Given the description of an element on the screen output the (x, y) to click on. 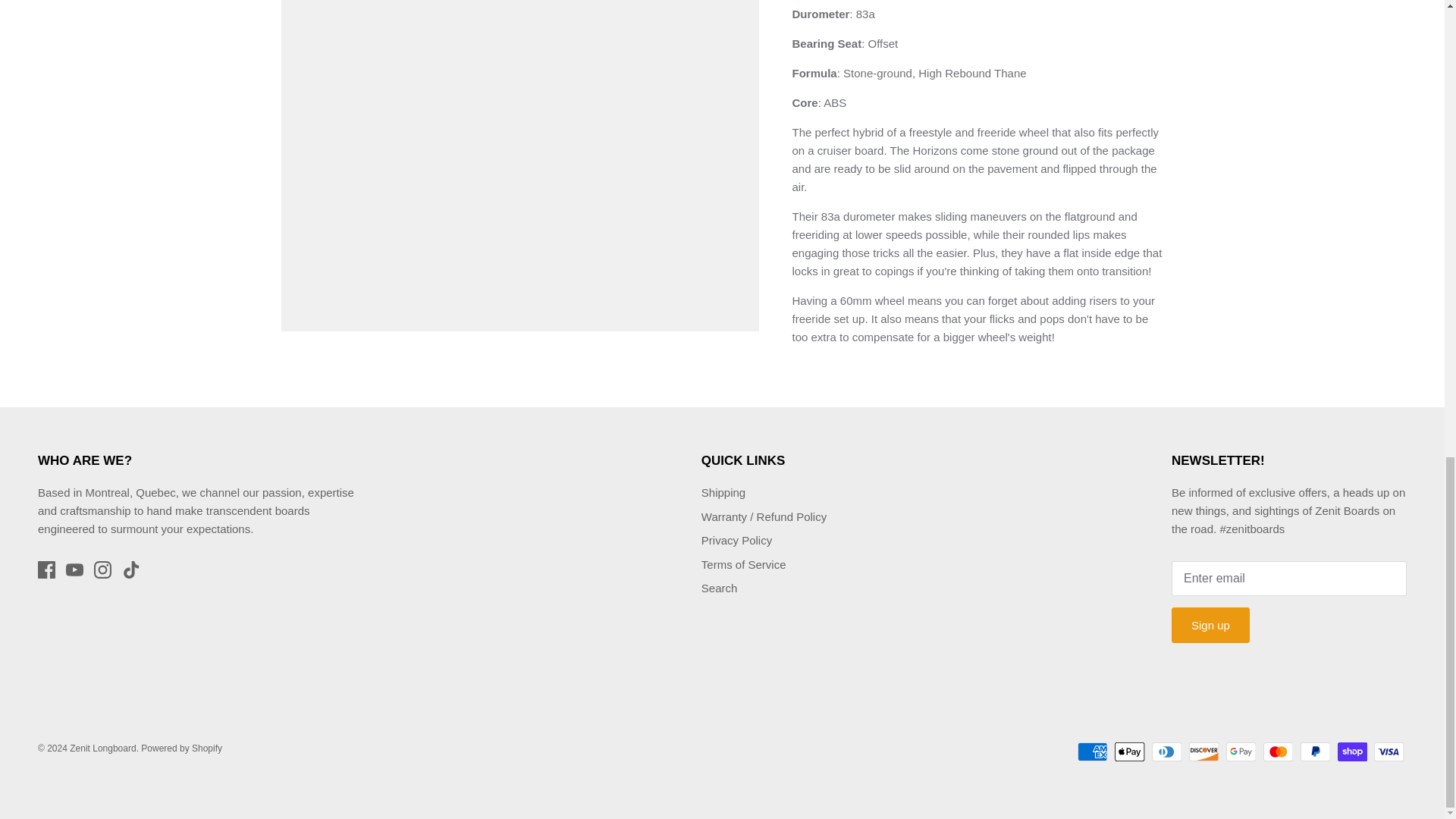
Google Pay (1240, 751)
Diners Club (1166, 751)
Discover (1203, 751)
Apple Pay (1129, 751)
PayPal (1315, 751)
Youtube (73, 569)
Instagram (103, 569)
Mastercard (1277, 751)
American Express (1092, 751)
Facebook (46, 569)
